Given the description of an element on the screen output the (x, y) to click on. 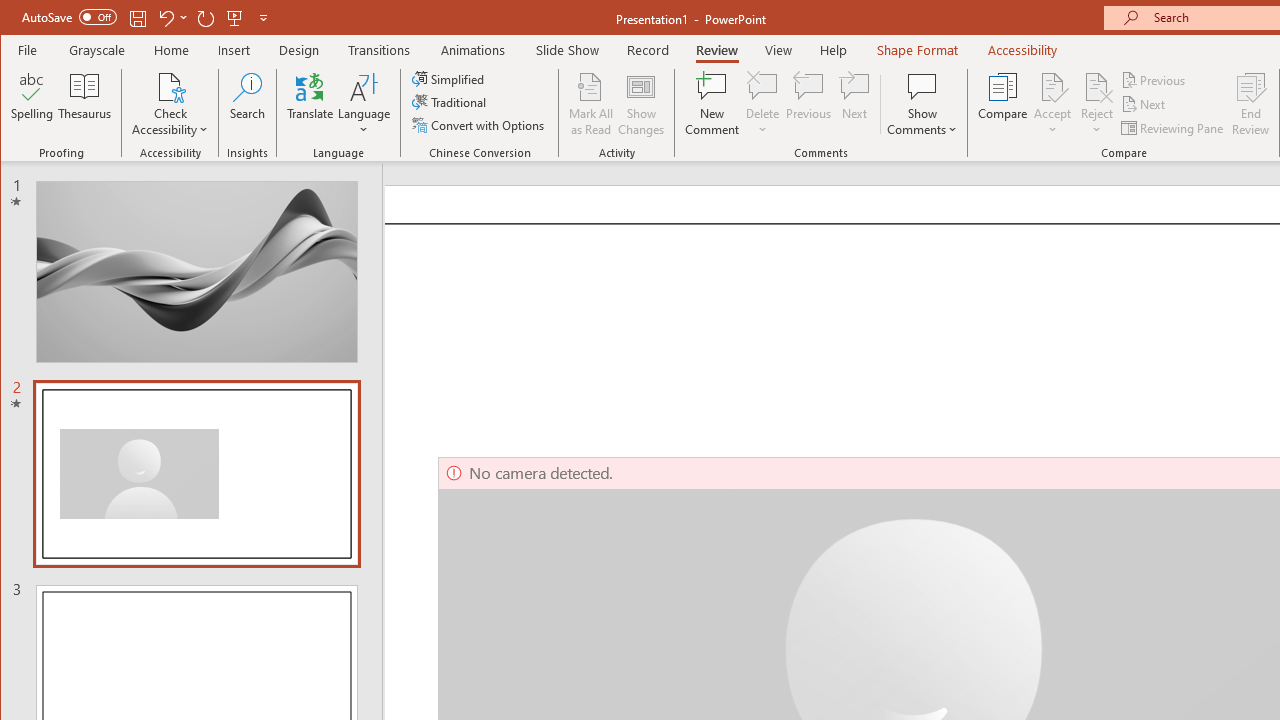
Accept Change (1052, 86)
Reject (1096, 104)
New Comment (712, 104)
End Review (1251, 104)
Next (1144, 103)
Translate (310, 104)
